Given the description of an element on the screen output the (x, y) to click on. 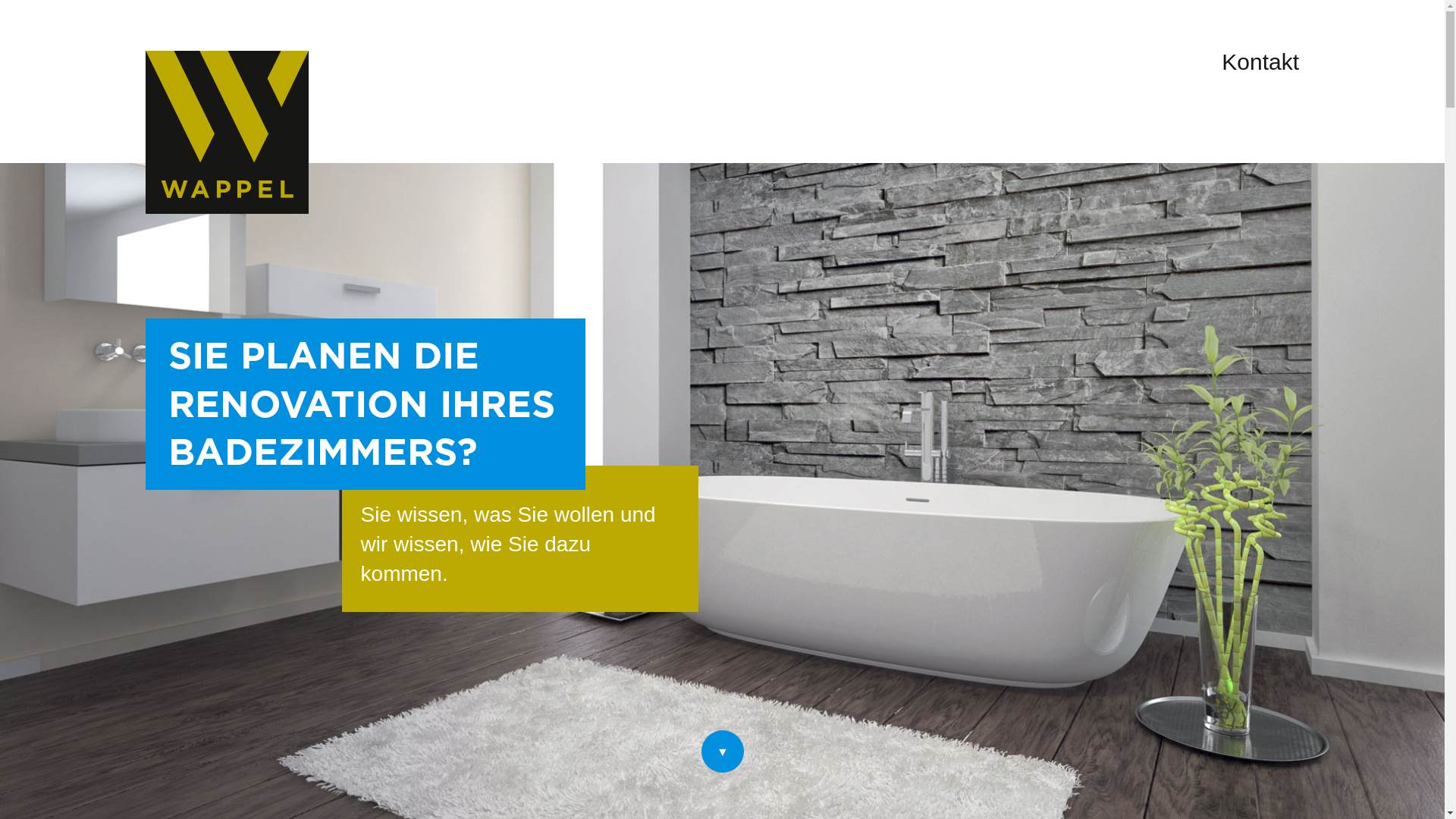
Kontakt Element type: text (1260, 61)
